Given the description of an element on the screen output the (x, y) to click on. 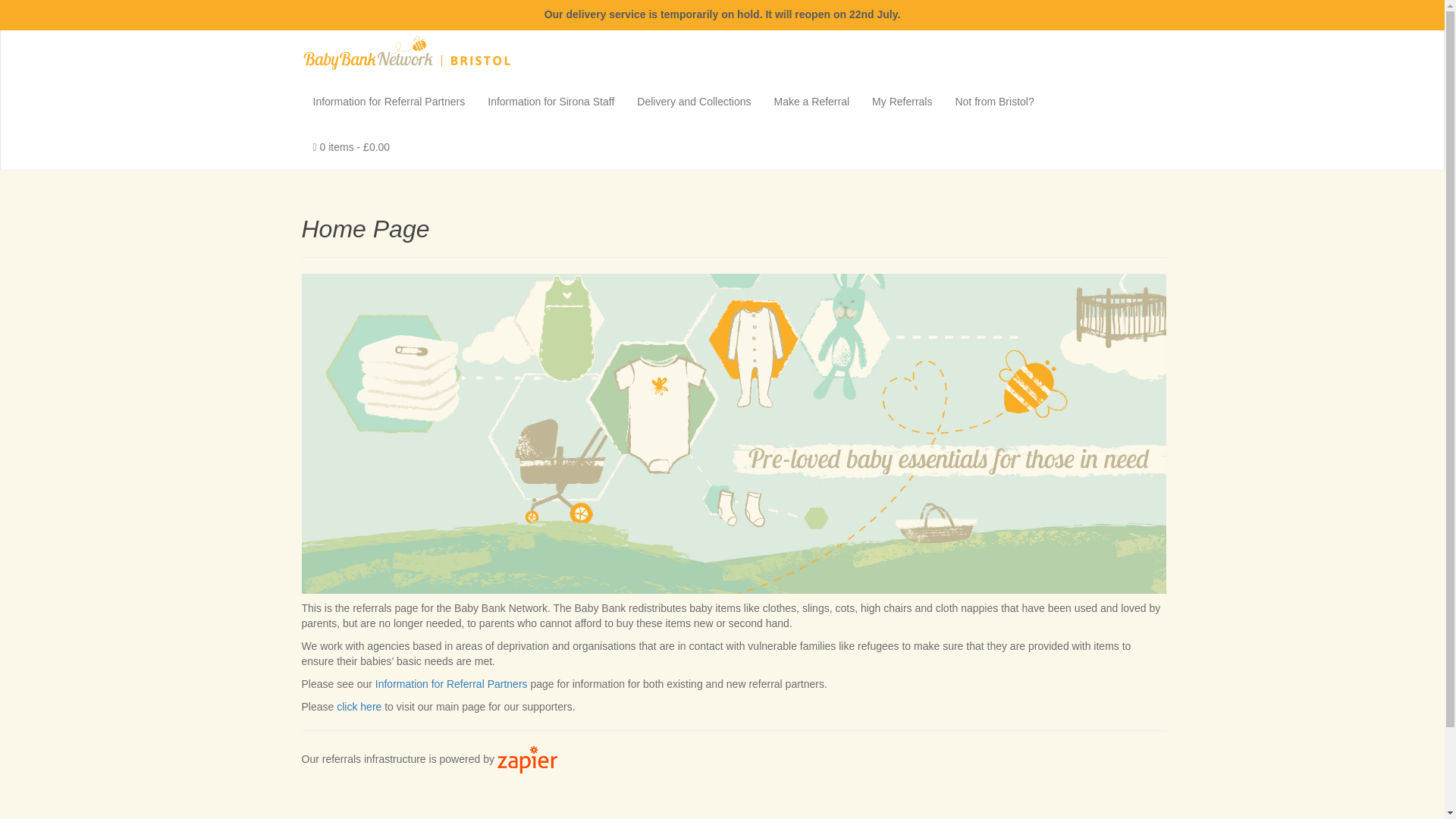
Not from Bristol? (994, 101)
Delivery and Collections (693, 101)
Information for Sirona Staff (551, 101)
Information for Sirona Staff (551, 101)
Start shopping (351, 146)
Make a Referral (811, 101)
My Referrals (901, 101)
Information for Referral Partners (389, 101)
My Referrals (901, 101)
Information for Referral Partners (451, 684)
Information for Referral Partners (389, 101)
Not from Bristol? (994, 101)
Delivery and Collections (693, 101)
click here (358, 706)
Make a Referral (811, 101)
